Given the description of an element on the screen output the (x, y) to click on. 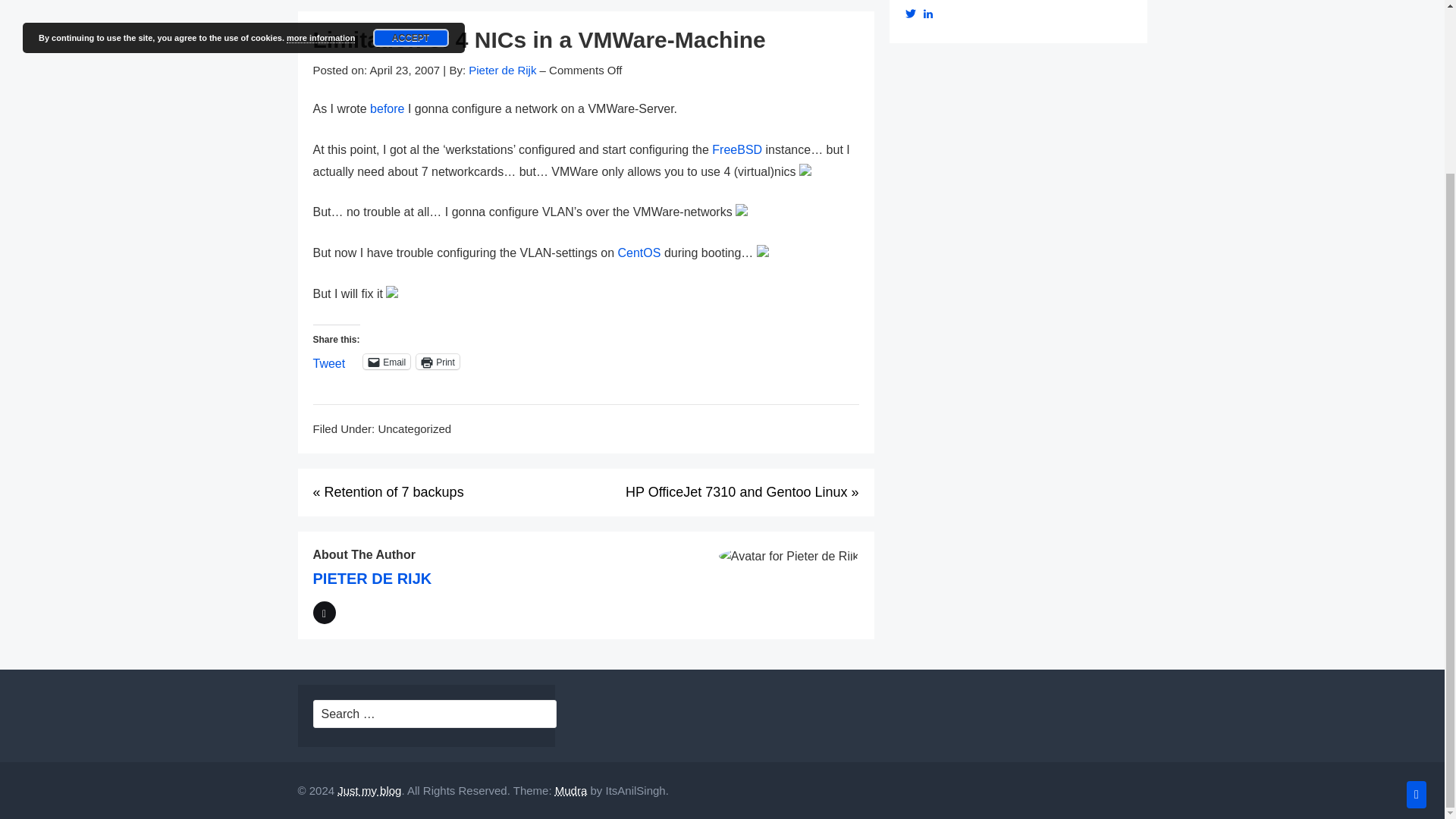
Mudra (571, 789)
Mudra (571, 789)
Print (438, 361)
Gravatar for Pieter de Rijk (789, 556)
Just my blog (369, 789)
Click to print (438, 361)
PIETER DE RIJK (371, 578)
Pieter de Rijk (501, 69)
FreeBSD (736, 149)
Tweet (329, 360)
Email (386, 361)
Just my blog (369, 789)
before (386, 108)
